Given the description of an element on the screen output the (x, y) to click on. 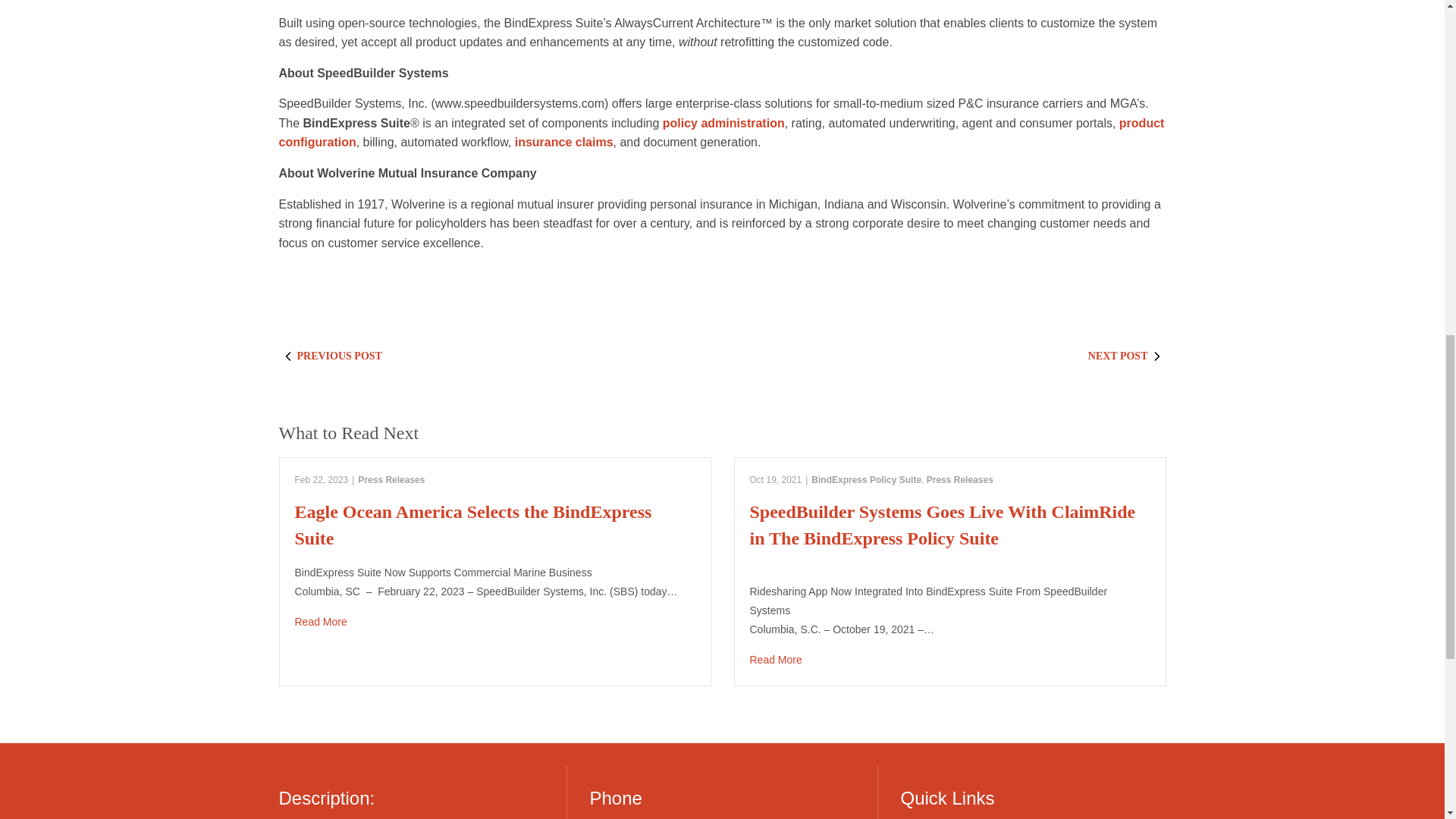
policy administration (723, 123)
product configuration (721, 133)
Eagle Ocean America Selects the BindExpress Suite (494, 621)
insurance claims (563, 141)
